Given the description of an element on the screen output the (x, y) to click on. 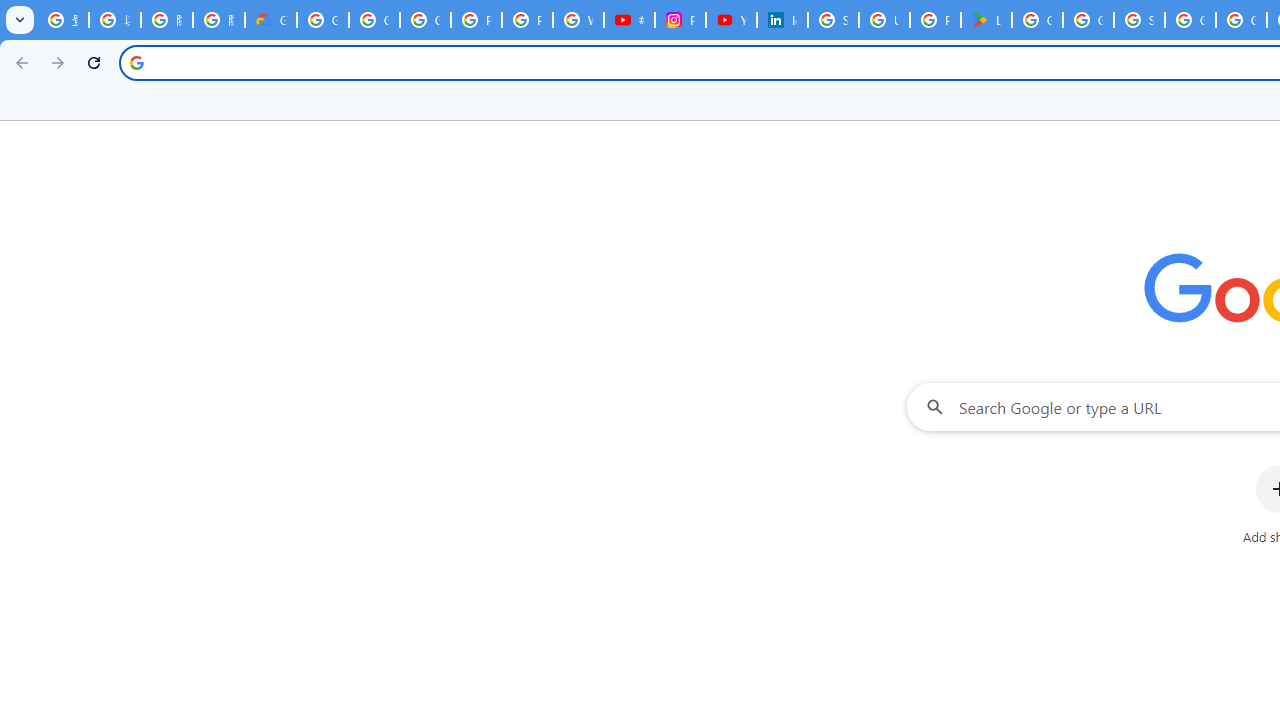
YouTube Culture & Trends - On The Rise: Handcam Videos (731, 20)
Last Shelter: Survival - Apps on Google Play (986, 20)
Privacy Help Center - Policies Help (526, 20)
Privacy Help Center - Policies Help (475, 20)
Google Workspace - Specific Terms (1087, 20)
